Given the description of an element on the screen output the (x, y) to click on. 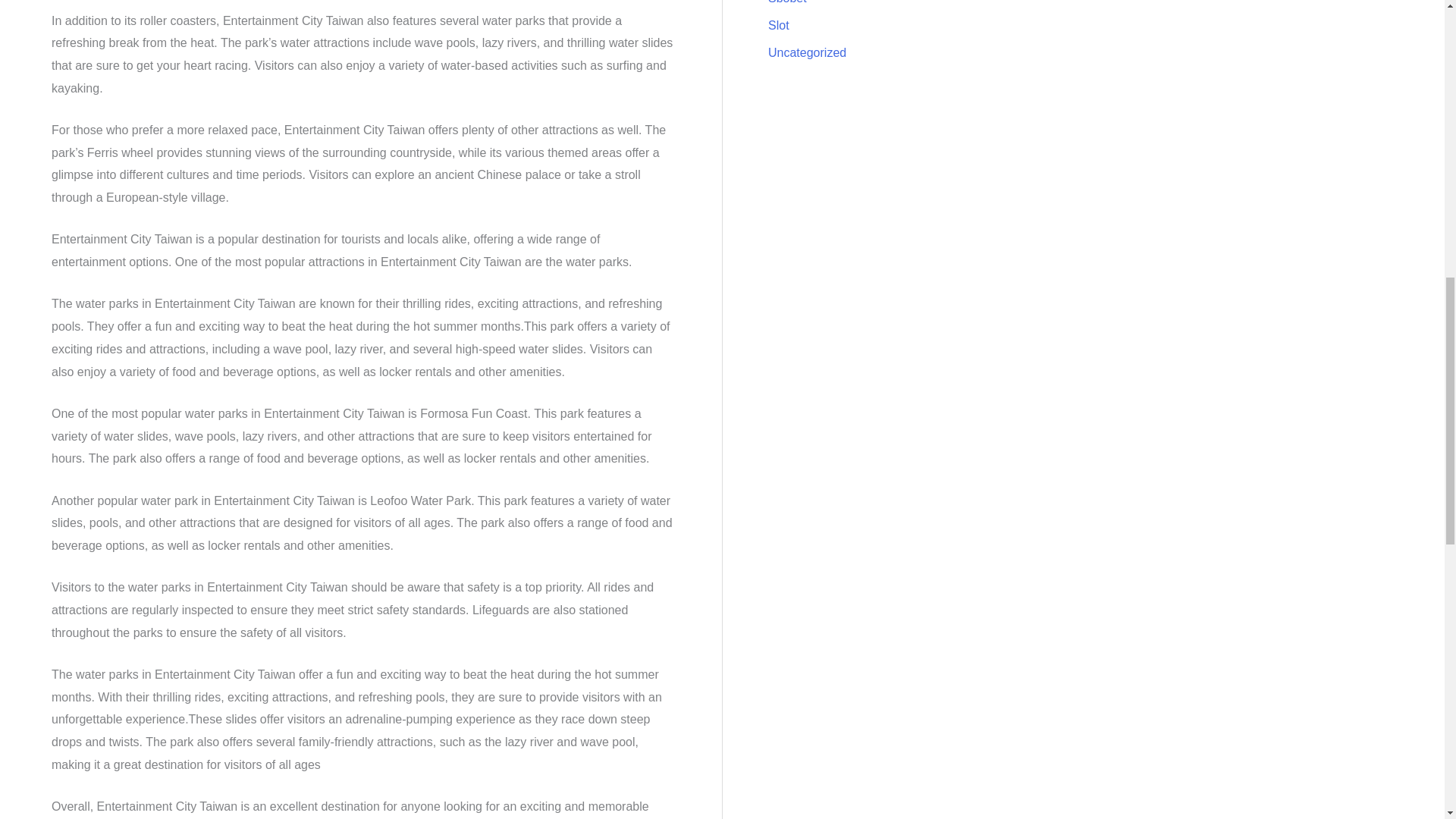
Sbobet (787, 2)
Slot (778, 24)
Uncategorized (806, 51)
